Given the description of an element on the screen output the (x, y) to click on. 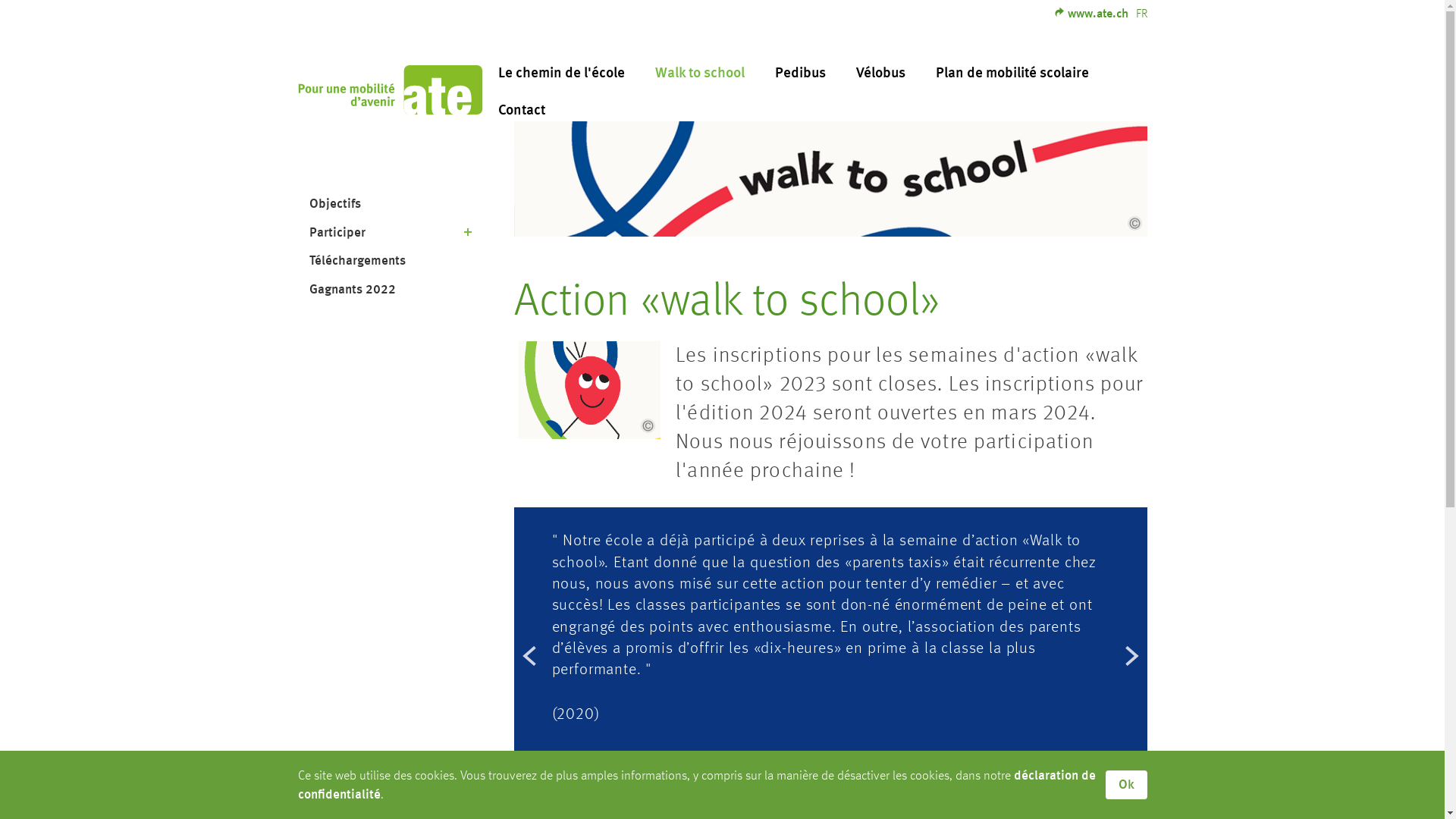
chemindelecole Element type: hover (389, 89)
www.ate.ch Element type: text (1090, 13)
Ok Element type: text (1126, 784)
Objectifs Element type: text (390, 204)
Contact Element type: text (520, 110)
Participer Element type: text (390, 232)
Pedibus Element type: text (799, 74)
Gagnants 2022 Element type: text (390, 290)
Walk to school Element type: text (699, 74)
